Given the description of an element on the screen output the (x, y) to click on. 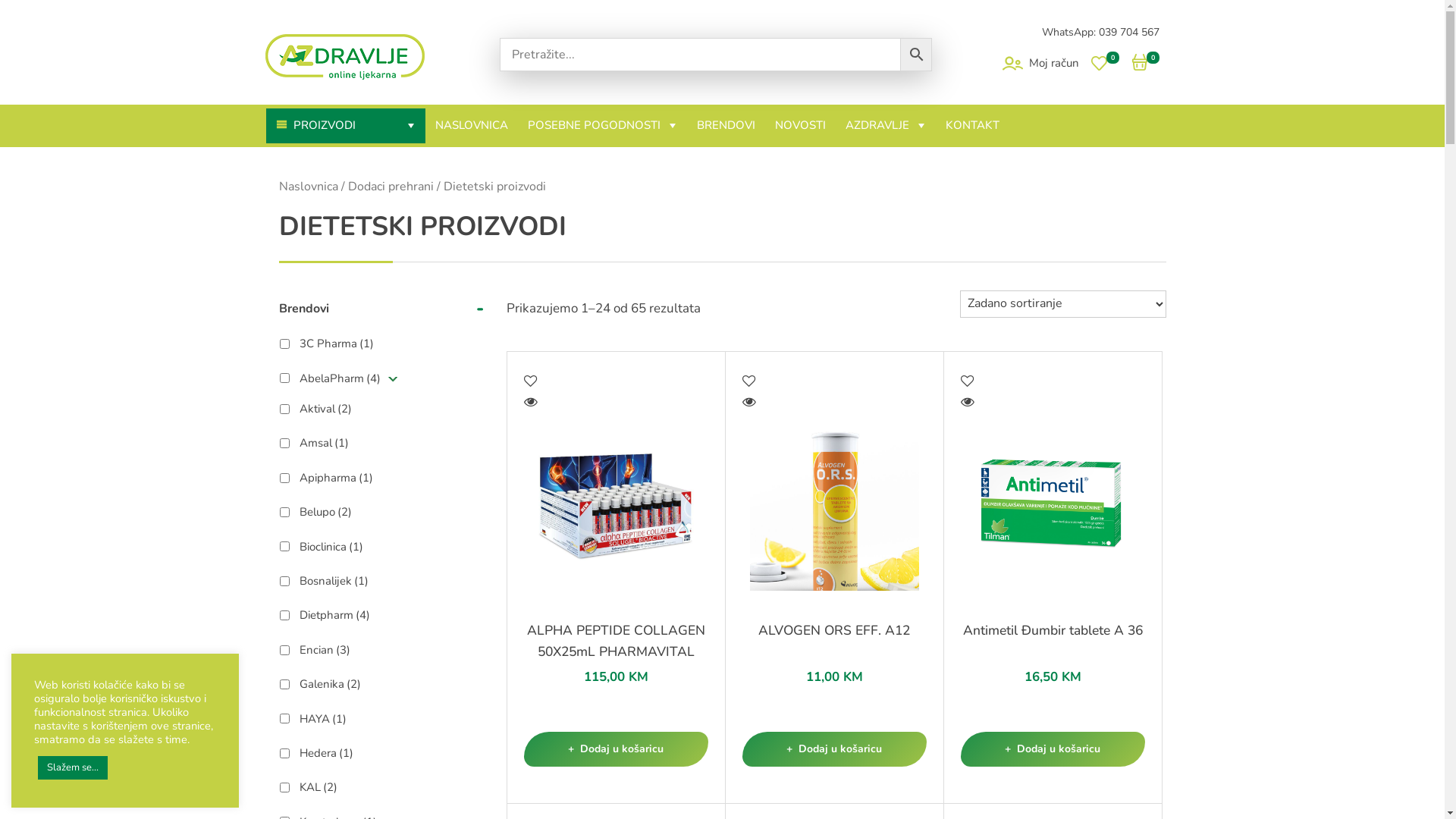
039 704 567 Element type: text (1128, 32)
NOVOSTI Element type: text (799, 125)
0 Element type: text (1145, 62)
- Element type: text (479, 308)
Dodaci prehrani Element type: text (390, 185)
KONTAKT Element type: text (972, 125)
Naslovnica Element type: text (308, 185)
PROIZVODI Element type: text (344, 125)
AZDRAVLJE Element type: text (885, 125)
BRENDOVI Element type: text (726, 125)
NASLOVNICA Element type: text (470, 125)
POSEBNE POGODNOSTI Element type: text (601, 125)
